Given the description of an element on the screen output the (x, y) to click on. 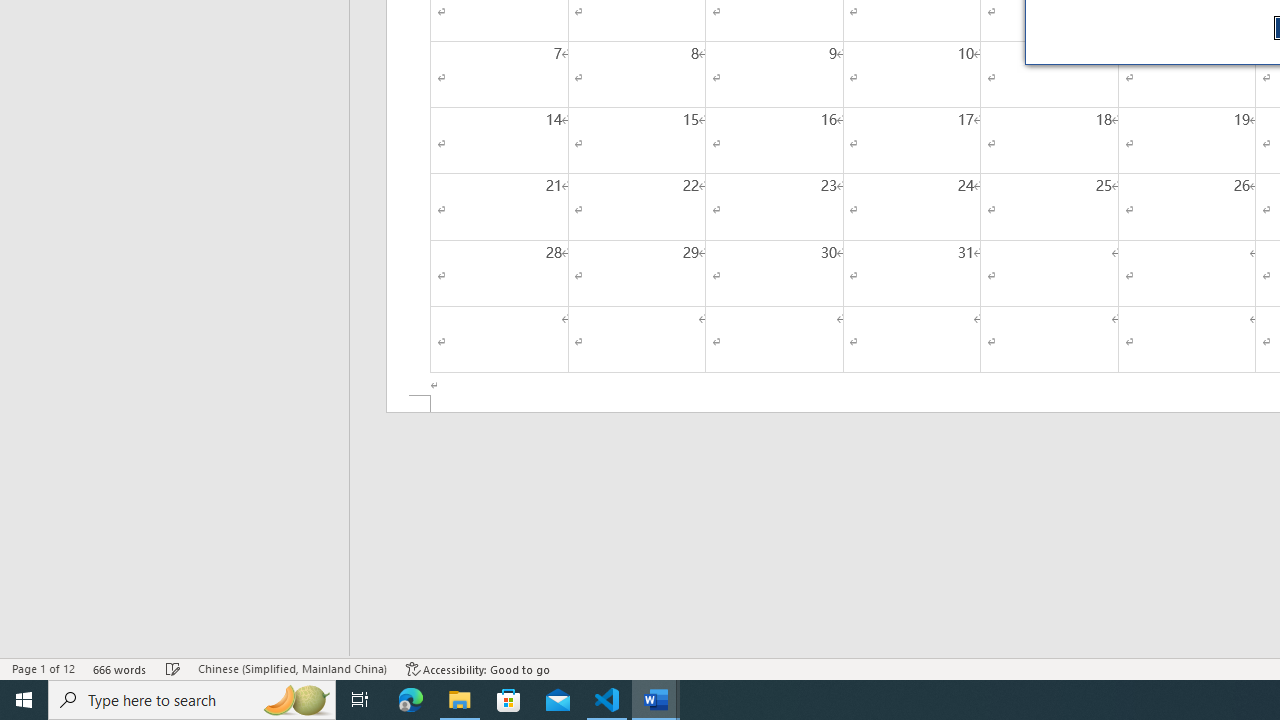
Type here to search (191, 699)
